Given the description of an element on the screen output the (x, y) to click on. 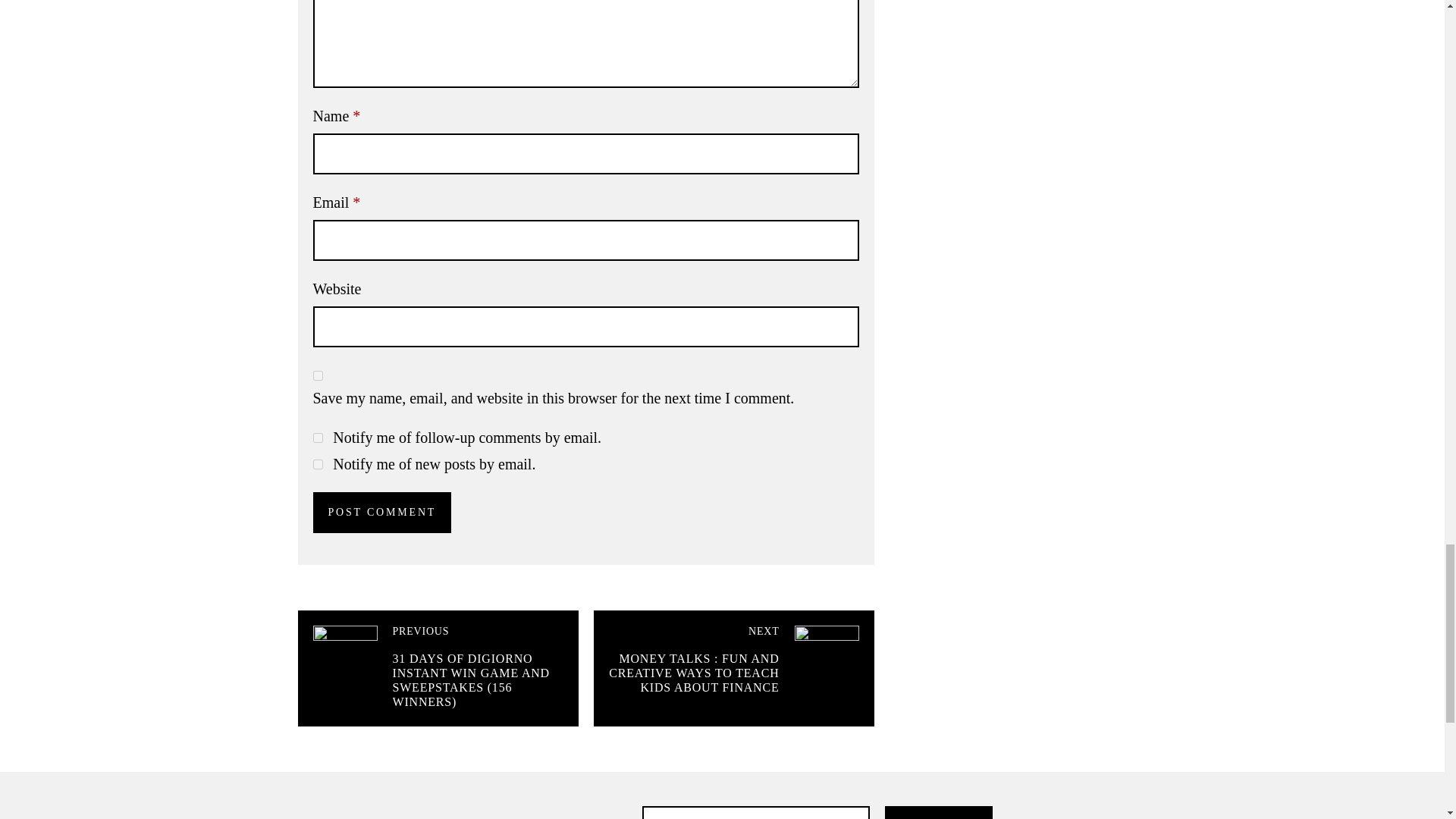
yes (317, 375)
subscribe (317, 464)
Post Comment (382, 512)
subscribe (317, 438)
Subscribe (938, 812)
